Given the description of an element on the screen output the (x, y) to click on. 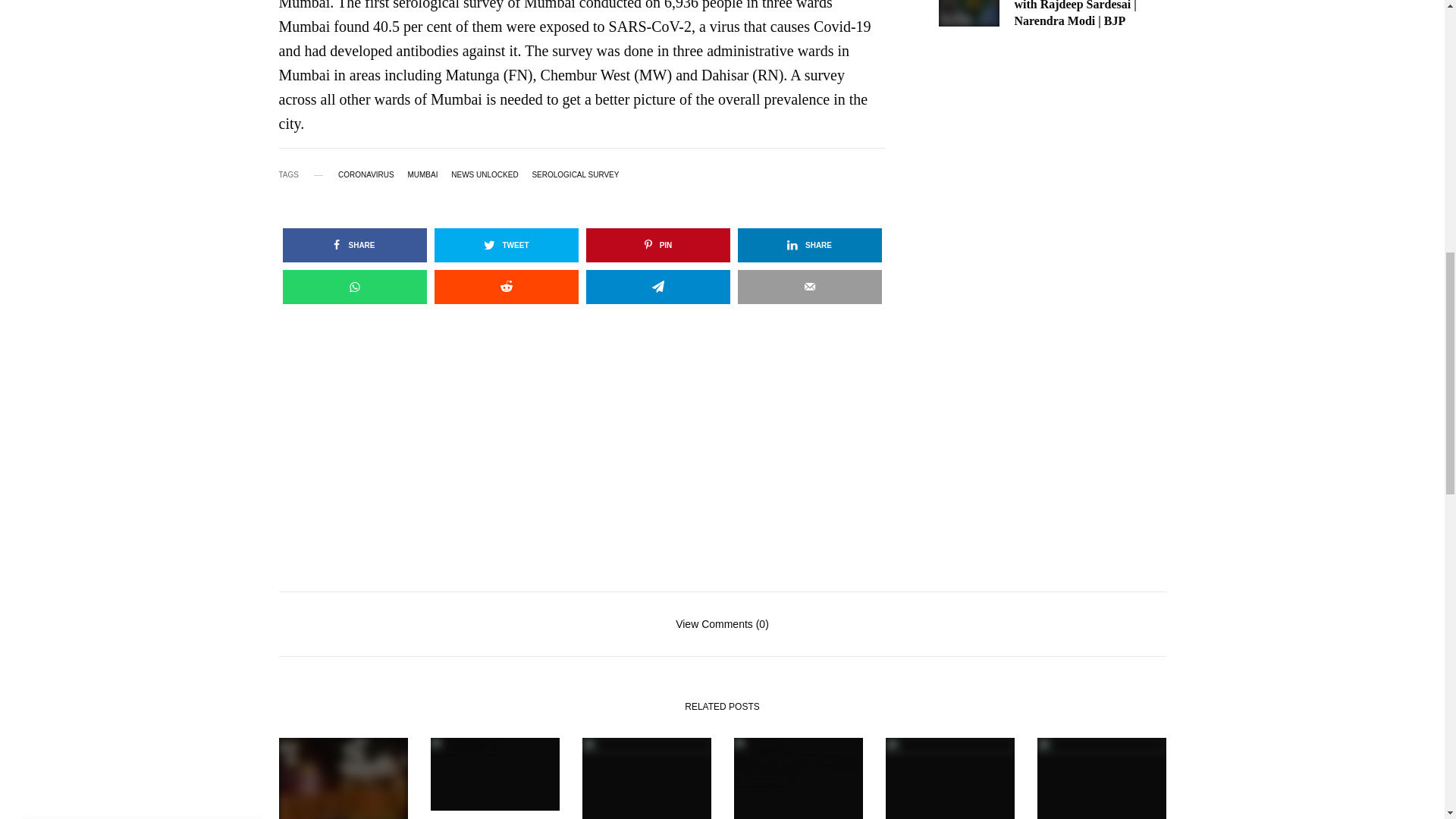
SHARE (354, 245)
SEROLOGICAL SURVEY (574, 175)
NEWS UNLOCKED (484, 175)
MUMBAI (422, 175)
TWEET (505, 245)
CORONAVIRUS (365, 175)
